Given the description of an element on the screen output the (x, y) to click on. 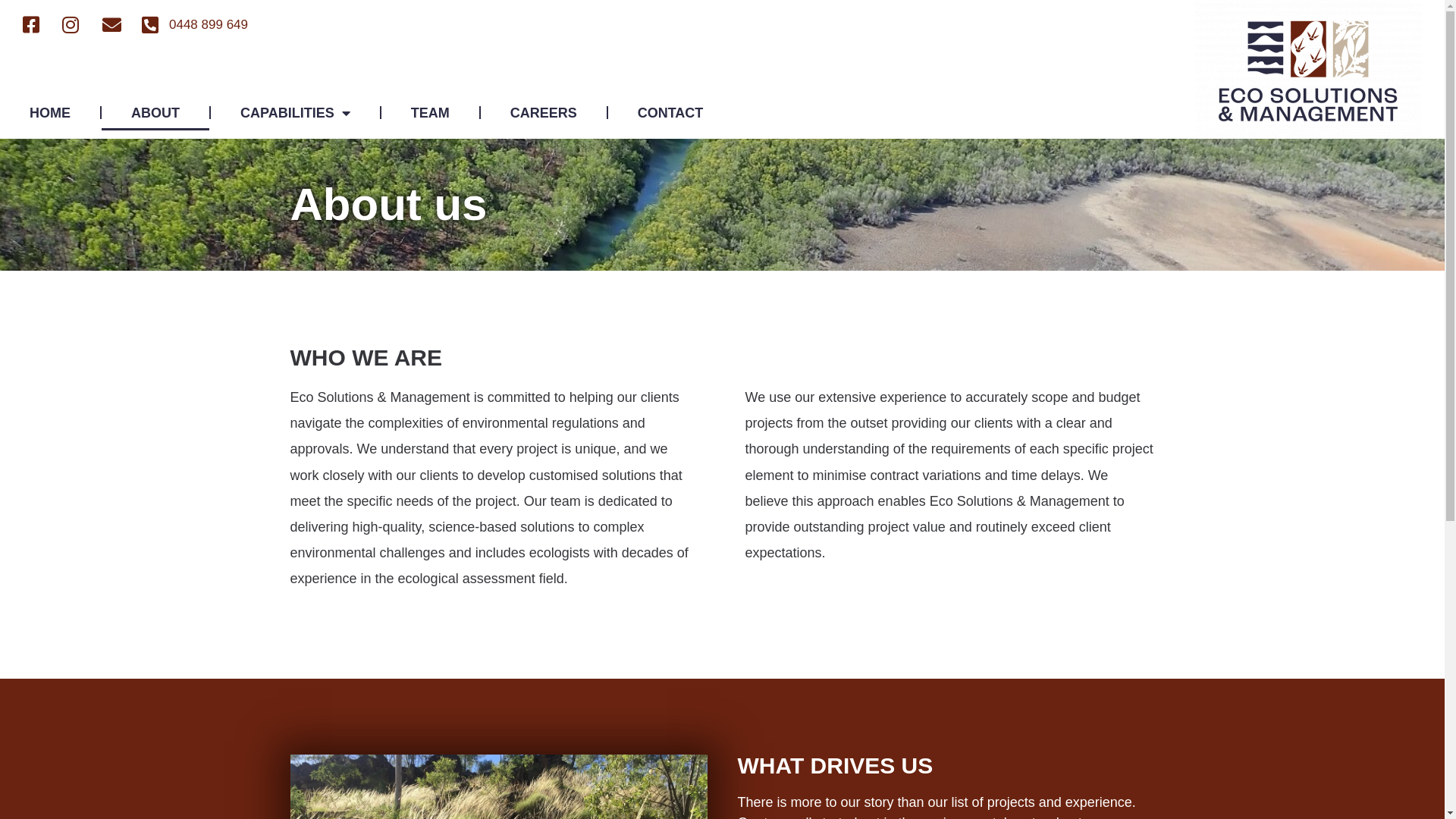
ABOUT Element type: text (155, 112)
CAPABILITIES Element type: text (294, 112)
TEAM Element type: text (430, 112)
0448 899 649 Element type: text (194, 24)
CONTACT Element type: text (670, 112)
CAREERS Element type: text (543, 112)
HOME Element type: text (50, 112)
